Given the description of an element on the screen output the (x, y) to click on. 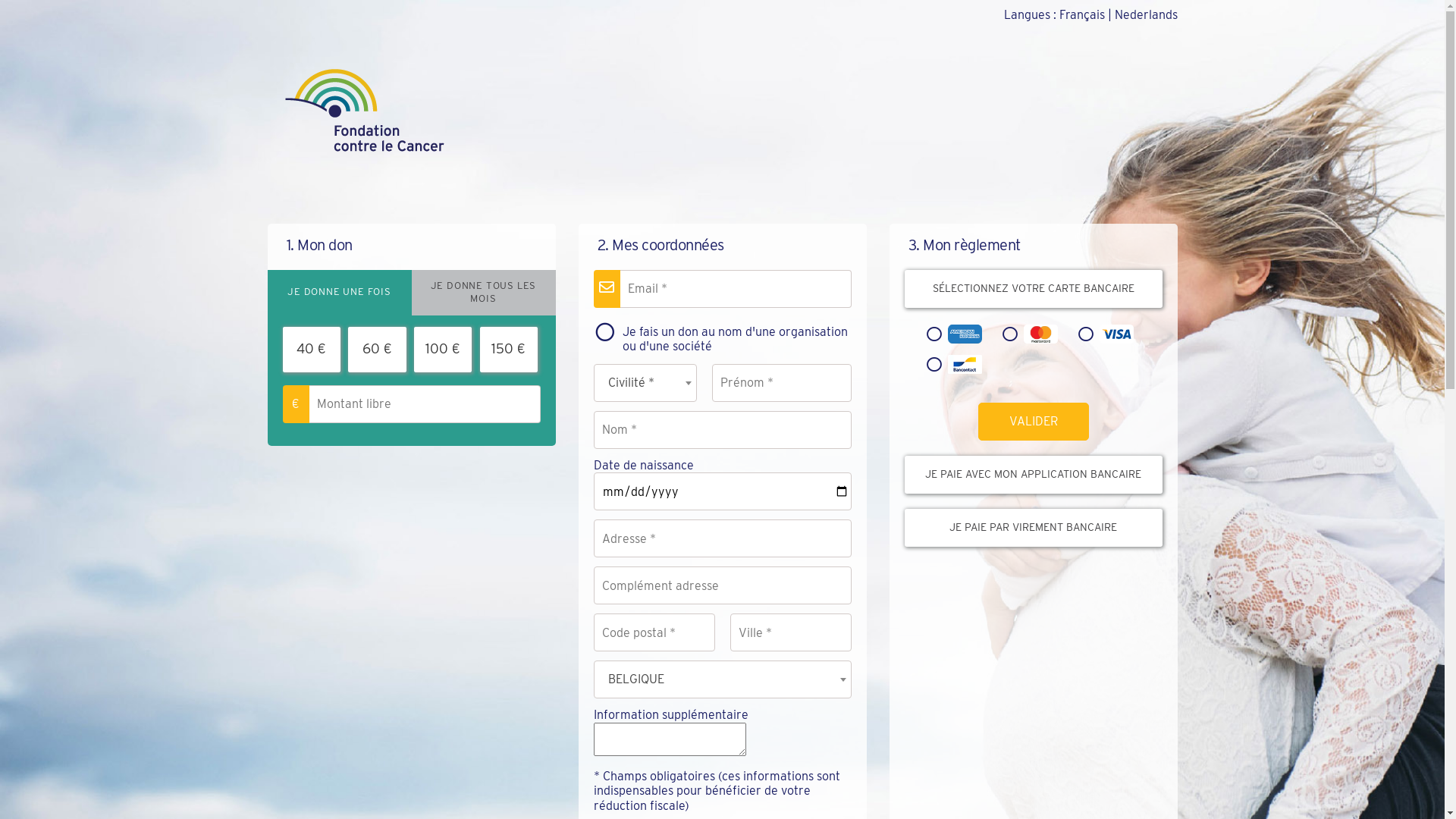
Fondation Contre le Cancer Element type: hover (362, 109)
Valider Element type: text (1033, 421)
Nederlands Element type: text (1145, 14)
JE DONNE UNE FOIS Element type: text (338, 292)
JE DONNE TOUS LES MOIS Element type: text (483, 292)
